Given the description of an element on the screen output the (x, y) to click on. 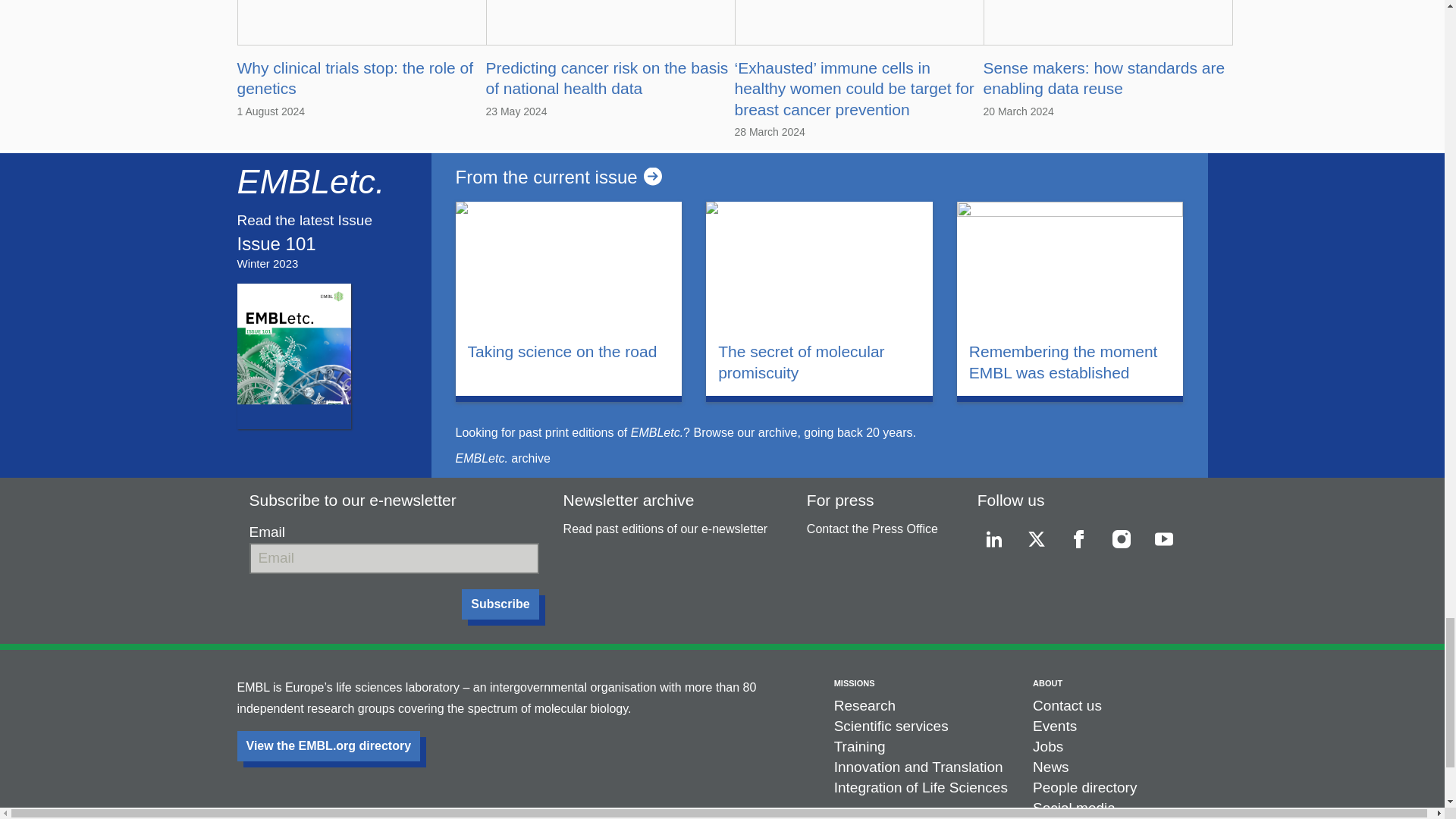
From the current issue (818, 177)
The secret of molecular promiscuity (818, 362)
Sense makers: how standards are enabling data reuse (1103, 77)
Taking science on the road (568, 351)
Why clinical trials stop: the role of genetics (354, 77)
EMBLetc. archive (502, 458)
Remembering the moment EMBL was established (1070, 362)
Predicting cancer risk on the basis of national health data (606, 77)
